Given the description of an element on the screen output the (x, y) to click on. 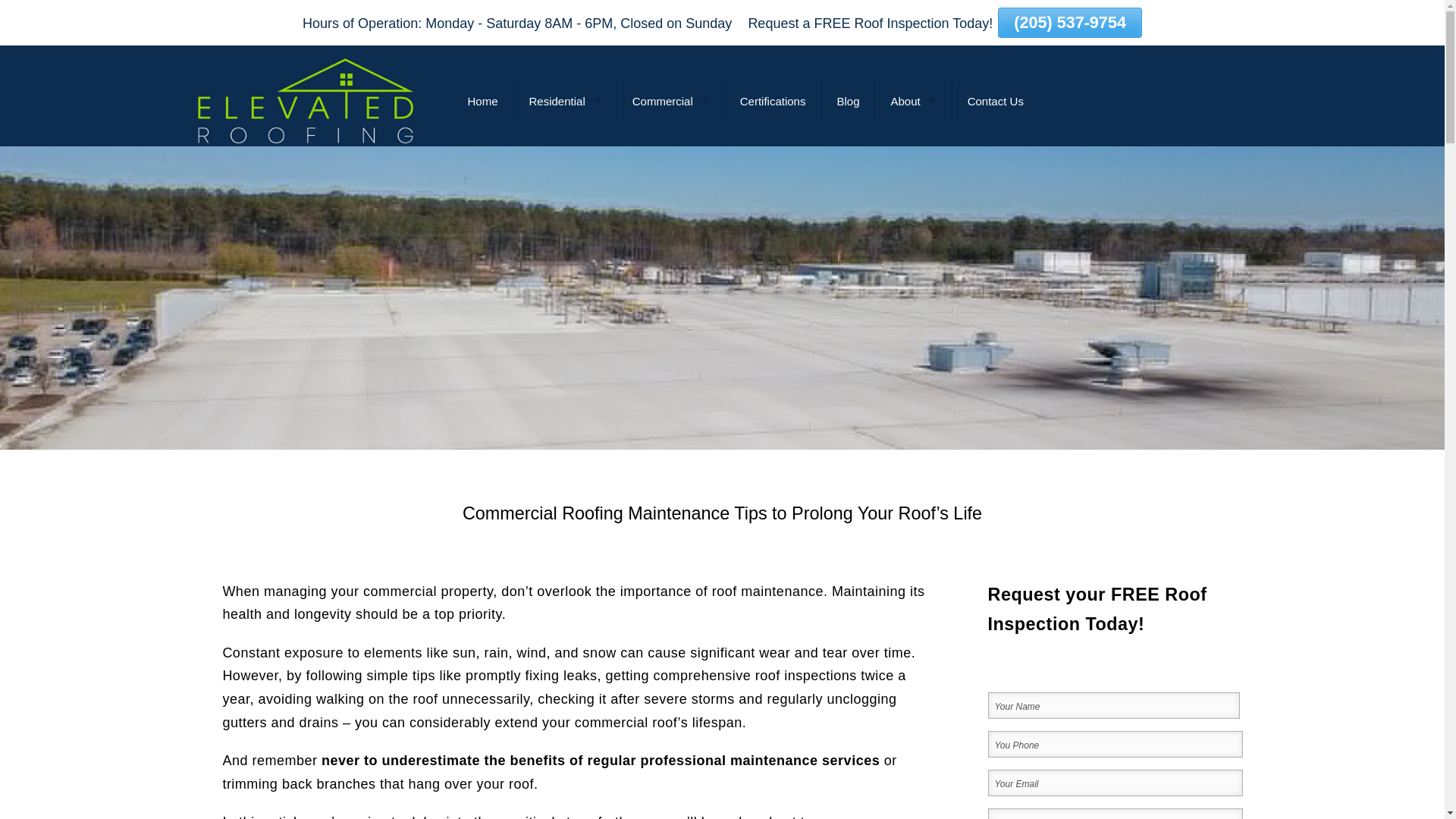
Commercial (670, 101)
Home (481, 101)
Commercial Roofing (704, 135)
About (912, 101)
Blog (848, 101)
Reviews (962, 135)
Residential (564, 101)
Contact Us (995, 101)
Wood Cedar Shake (600, 135)
Certifications (773, 101)
